Given the description of an element on the screen output the (x, y) to click on. 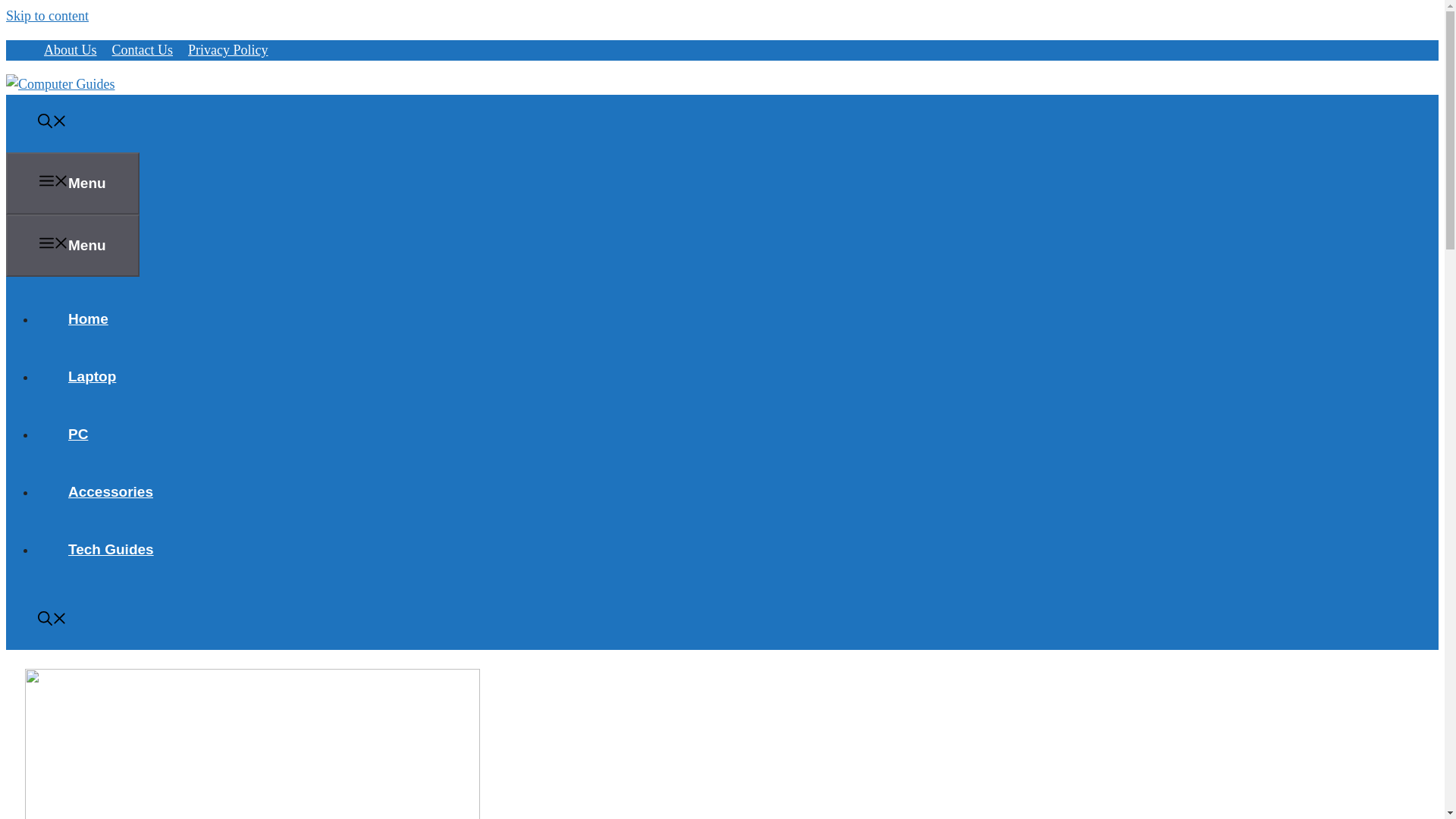
Menu (72, 245)
Privacy Policy (227, 49)
About Us (70, 49)
Laptop (92, 376)
Home (87, 318)
Accessories (110, 491)
Contact Us (142, 49)
Tech Guides (111, 549)
Menu (72, 183)
Skip to content (46, 15)
PC (77, 433)
Skip to content (46, 15)
